Given the description of an element on the screen output the (x, y) to click on. 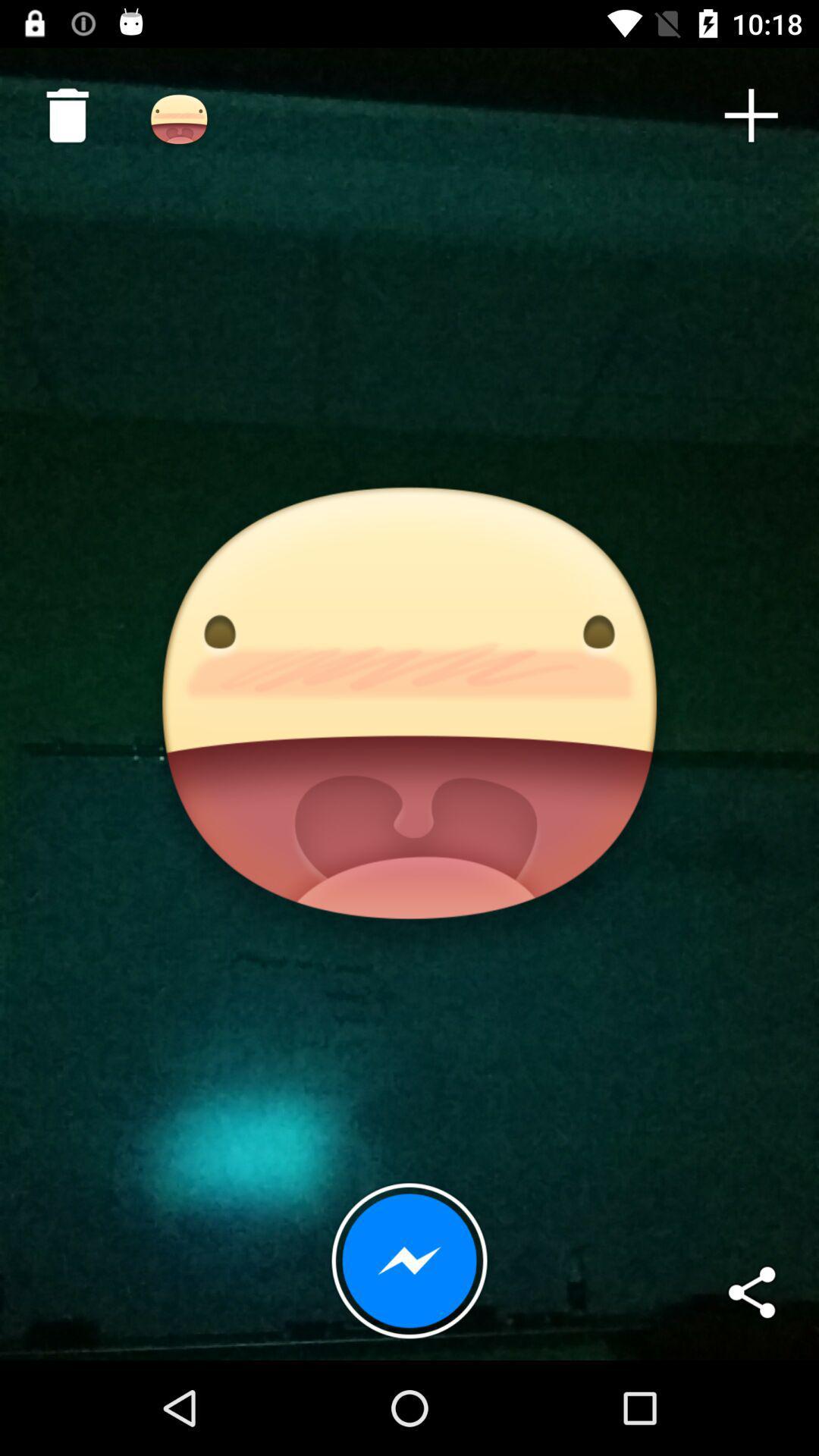
click icon at the top right corner (751, 115)
